Given the description of an element on the screen output the (x, y) to click on. 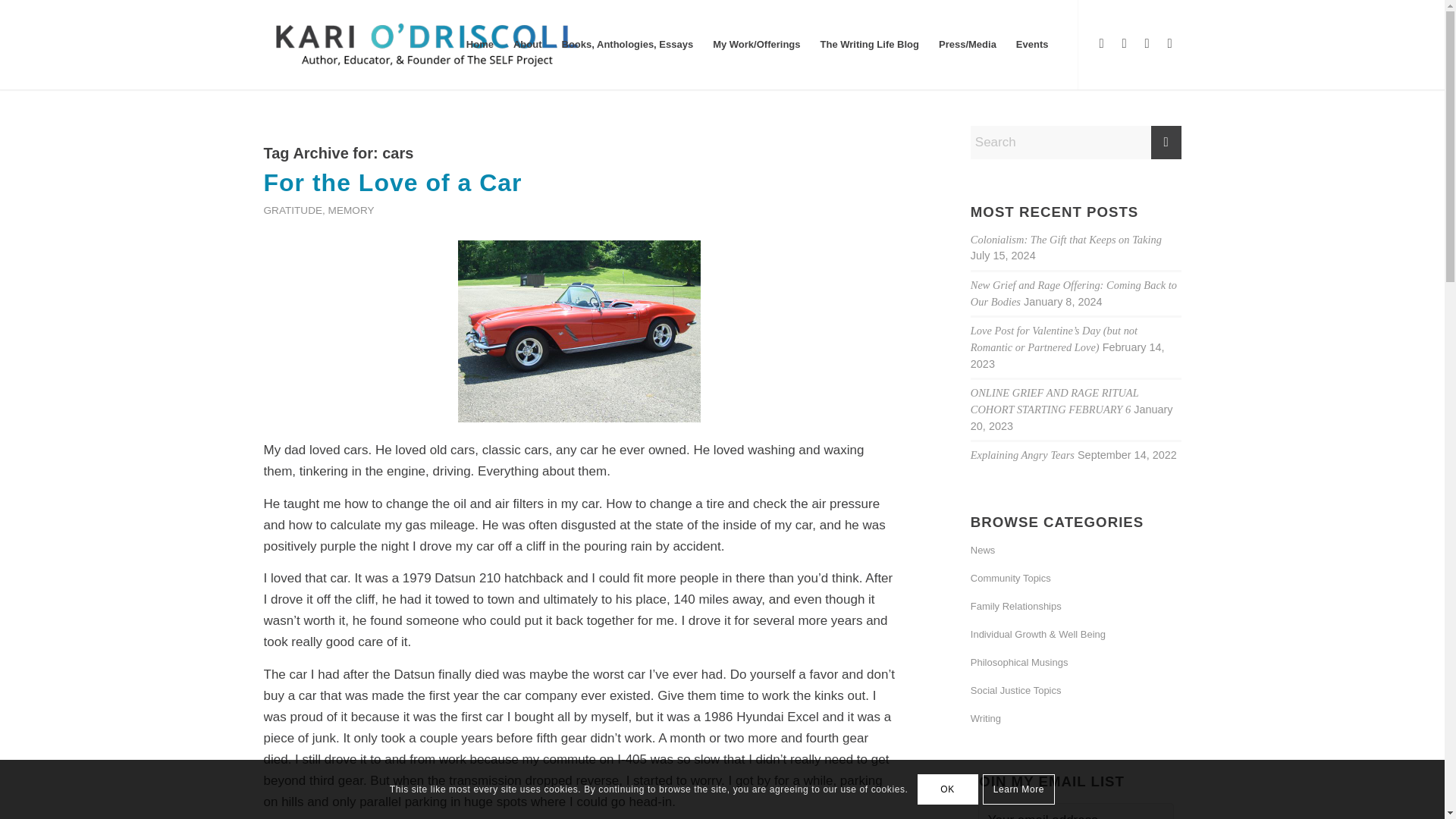
LinkedIn (1146, 43)
ONLINE GRIEF AND RAGE RITUAL COHORT STARTING FEBRUARY 6 (1054, 400)
Colonialism: The Gift that Keeps on Taking (1066, 239)
Social Justice Topics (1075, 691)
New Grief and Rage Offering: Coming Back to Our Bodies (1073, 293)
Books, Anthologies, Essays (627, 44)
Family Relationships (1075, 606)
Permanent Link: For the Love of a Car (392, 182)
MEMORY (351, 210)
Instagram (1169, 43)
Explaining Angry Tears (1022, 454)
Writing (1075, 719)
X (1124, 43)
GRATITUDE (293, 210)
For the Love of a Car (392, 182)
